Given the description of an element on the screen output the (x, y) to click on. 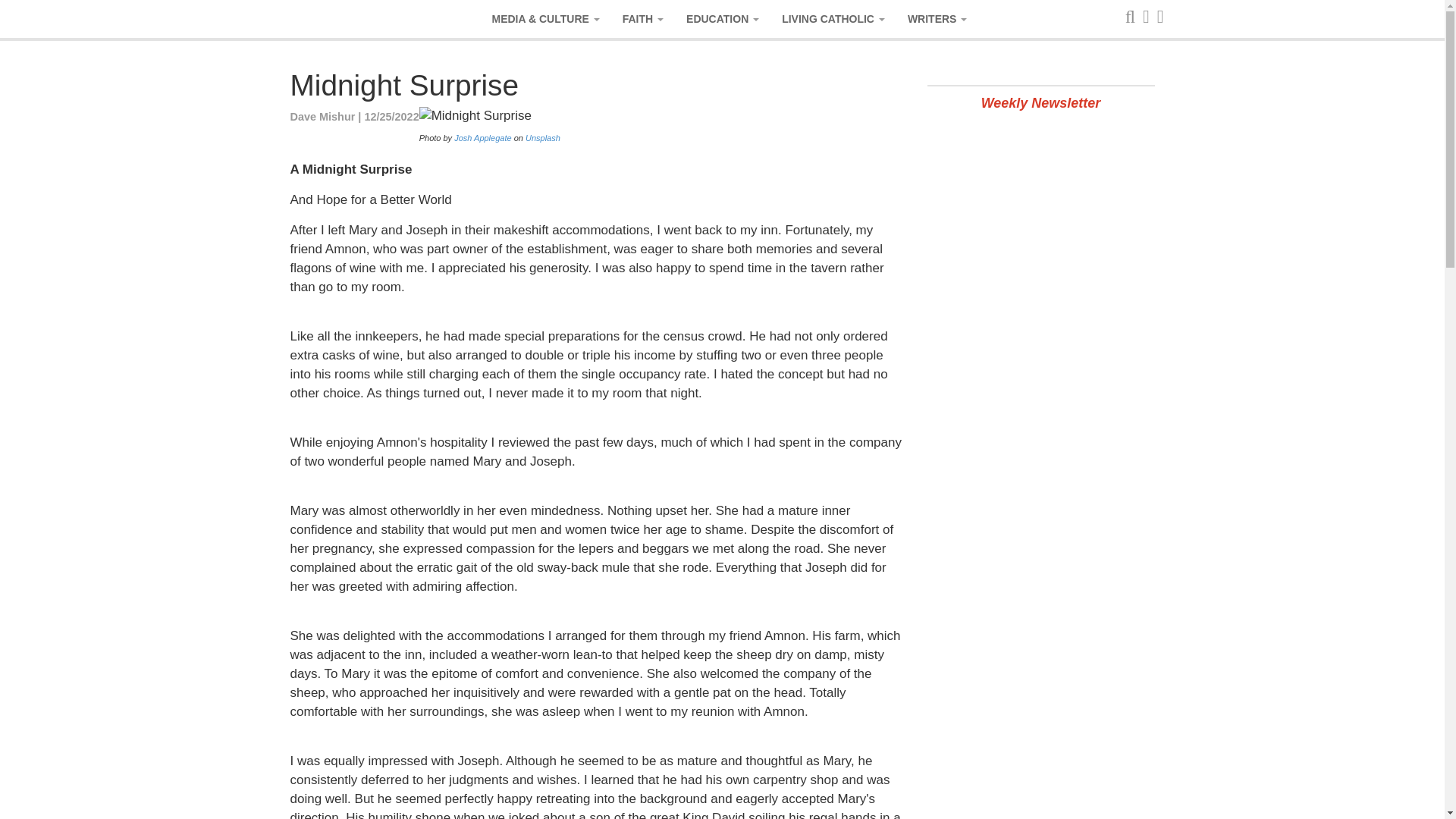
FAITH (643, 18)
EDUCATION (722, 18)
Unsplash (542, 137)
LIVING CATHOLIC (833, 18)
WRITERS (937, 18)
Josh Applegate (482, 137)
